Given the description of an element on the screen output the (x, y) to click on. 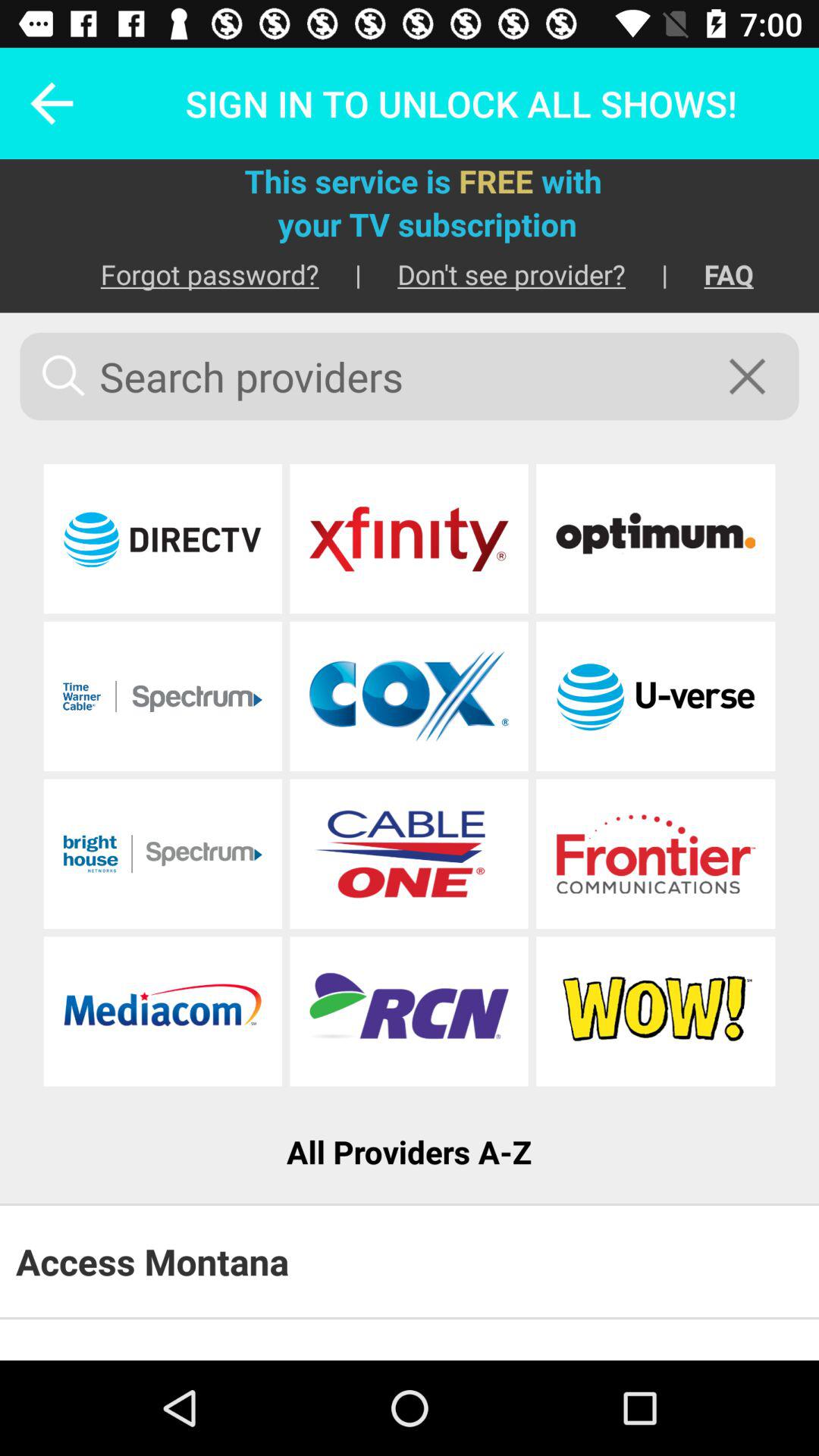
check wow service provider (655, 1011)
